Given the description of an element on the screen output the (x, y) to click on. 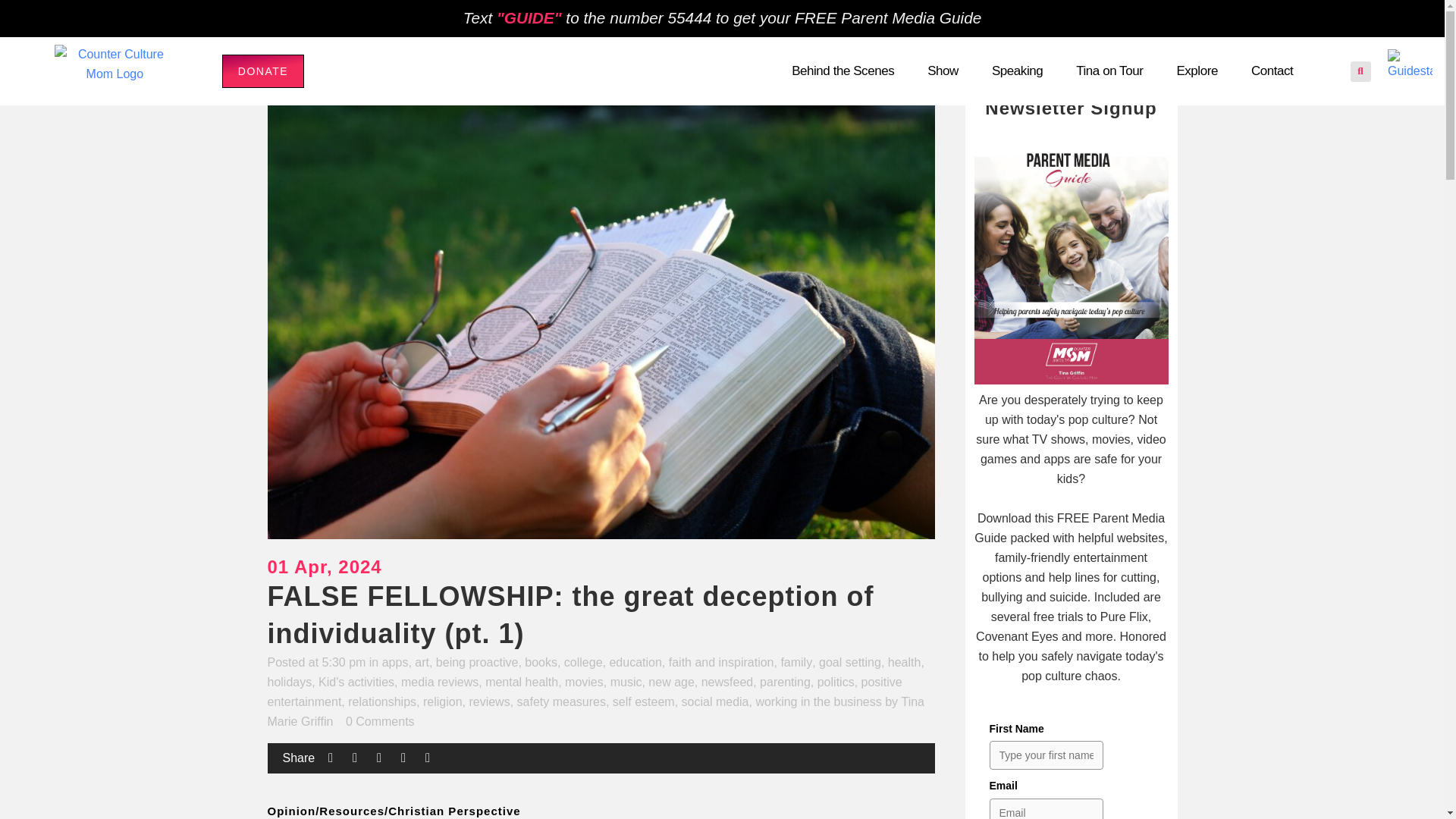
Contact (1271, 70)
Tina on Tour (1109, 70)
Explore (1197, 70)
Speaking (1016, 70)
DONATE (263, 70)
Show (942, 70)
Behind the Scenes (842, 70)
